Given the description of an element on the screen output the (x, y) to click on. 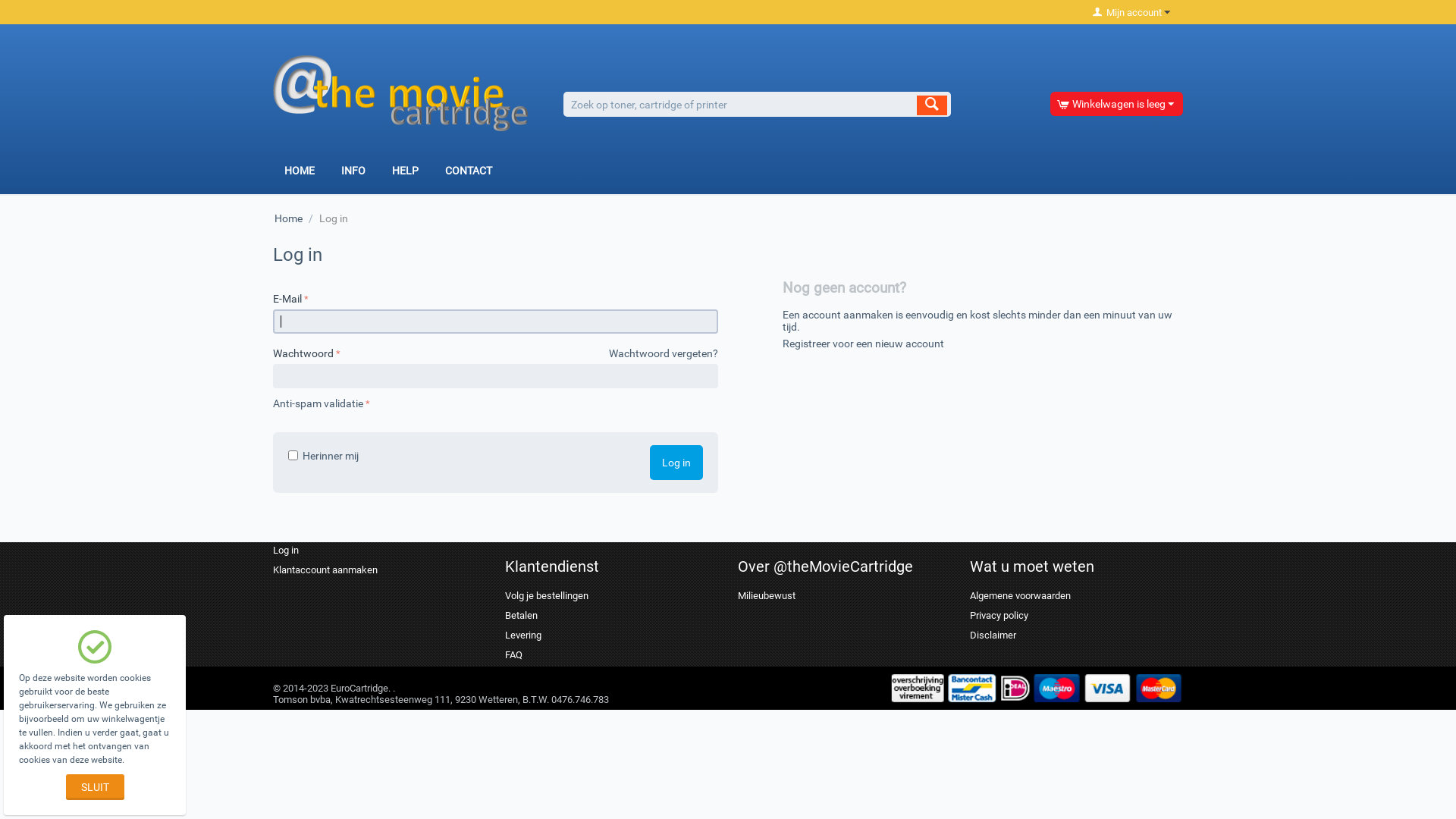
Registreer voor een nieuw account Element type: text (863, 343)
INFO Element type: text (352, 172)
Klantaccount aanmaken Element type: text (325, 569)
Levering Element type: text (523, 634)
Betalen Element type: text (521, 615)
Home Element type: text (288, 217)
Winkelwagen is leeg Element type: text (1115, 103)
Privacy policy Element type: text (998, 615)
Milieubewust Element type: text (766, 595)
  Mijn account Element type: text (1130, 12)
Zoeken Element type: hover (931, 105)
Zoek op toner, cartridge of printer Element type: hover (756, 103)
Disclaimer Element type: text (992, 634)
SLUIT Element type: text (94, 787)
Volg je bestellingen Element type: text (546, 595)
Algemene voorwaarden Element type: text (1019, 595)
HELP Element type: text (404, 172)
FAQ Element type: text (513, 654)
HOME Element type: text (299, 172)
Log in Element type: text (285, 549)
Log in Element type: text (675, 462)
Wachtwoord vergeten? Element type: text (663, 353)
CONTACT Element type: text (468, 172)
